Given the description of an element on the screen output the (x, y) to click on. 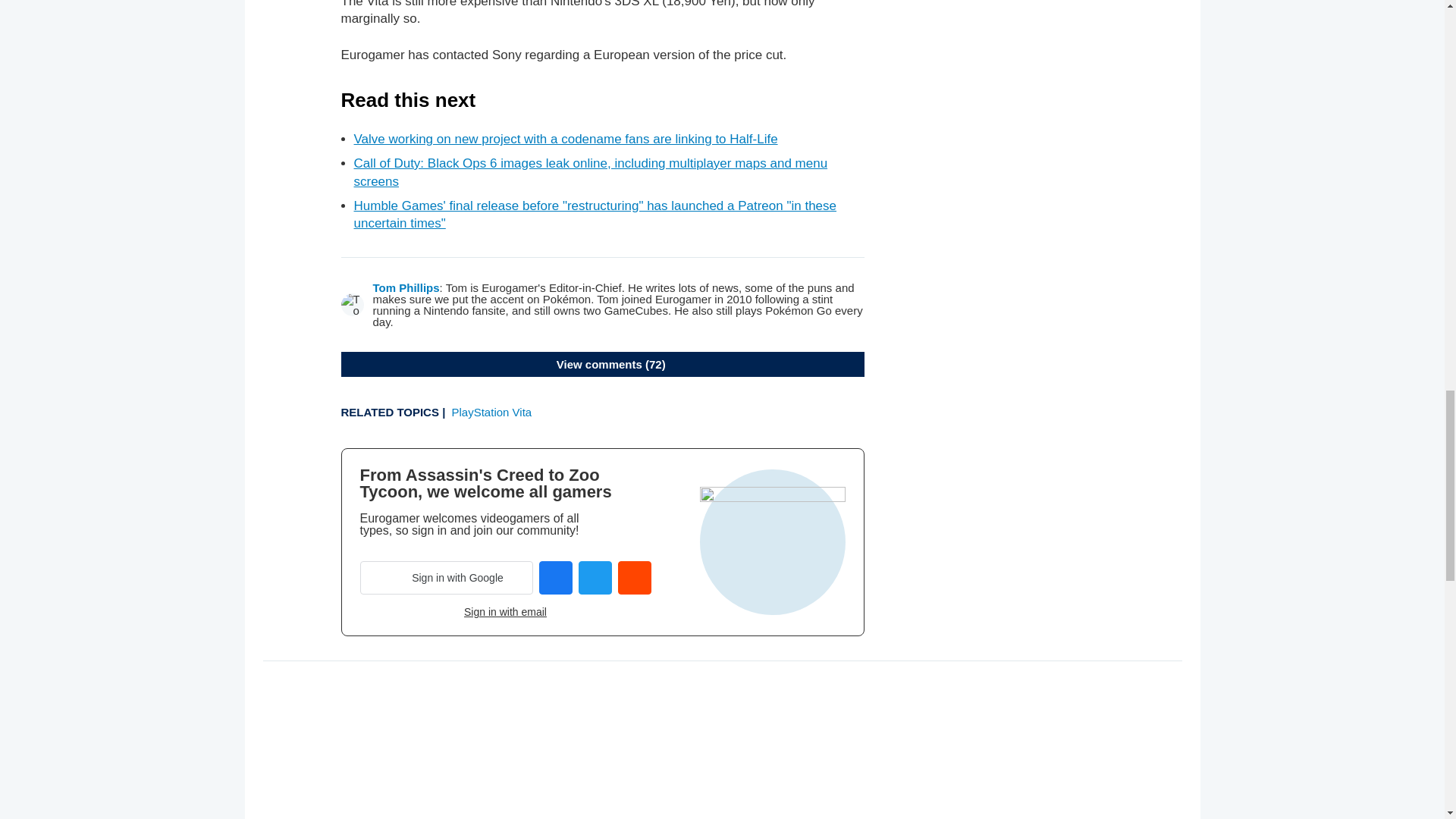
Sign in with email (504, 611)
PlayStation Vita (491, 411)
Sign in with Google (445, 577)
Tom Phillips (405, 287)
Sign in with Google (445, 577)
